Given the description of an element on the screen output the (x, y) to click on. 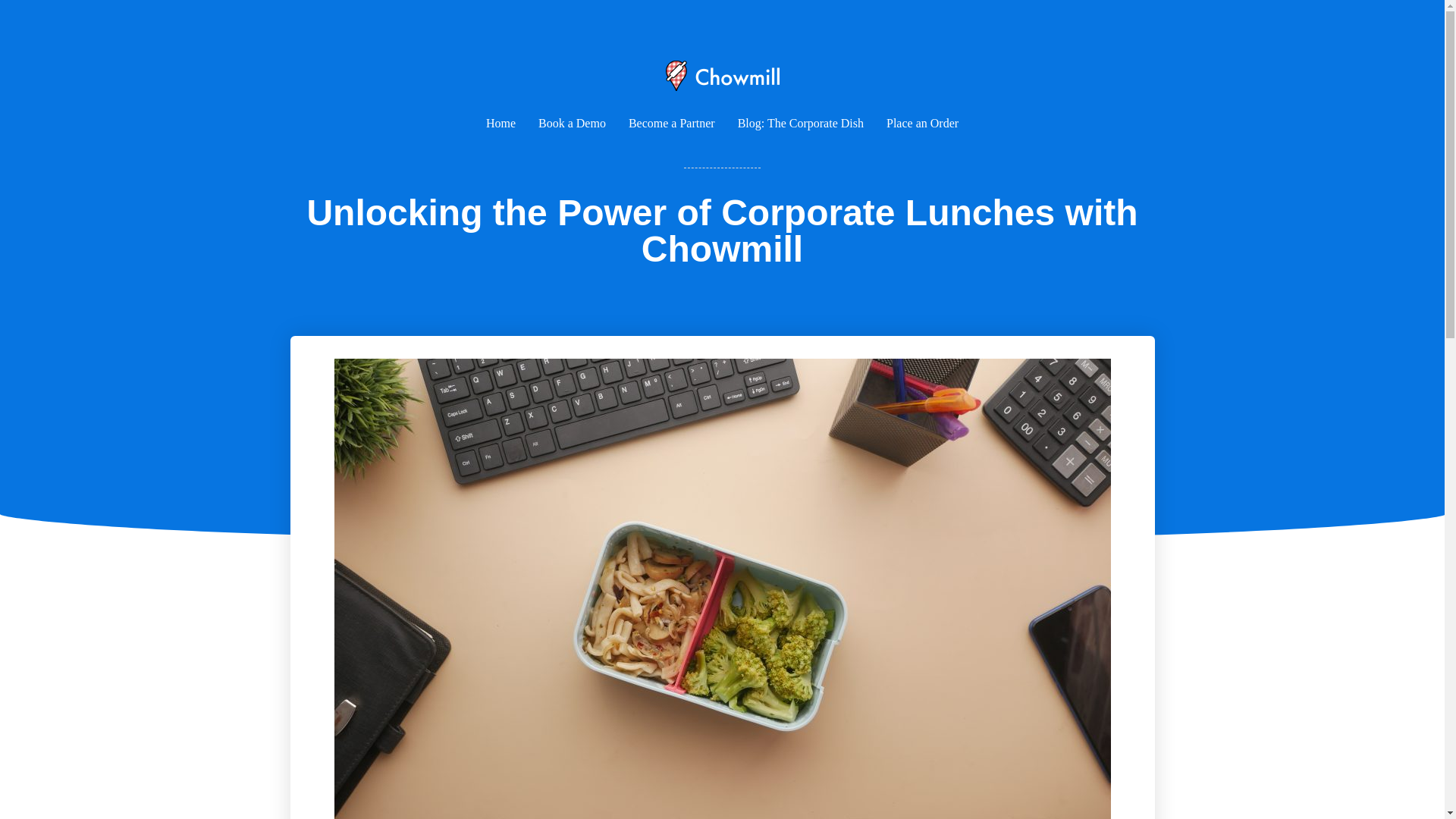
Home (500, 123)
Become a Partner (671, 123)
Book a Demo (572, 123)
Blog: The Corporate Dish (800, 123)
Place an Order (922, 123)
logo (721, 75)
